Given the description of an element on the screen output the (x, y) to click on. 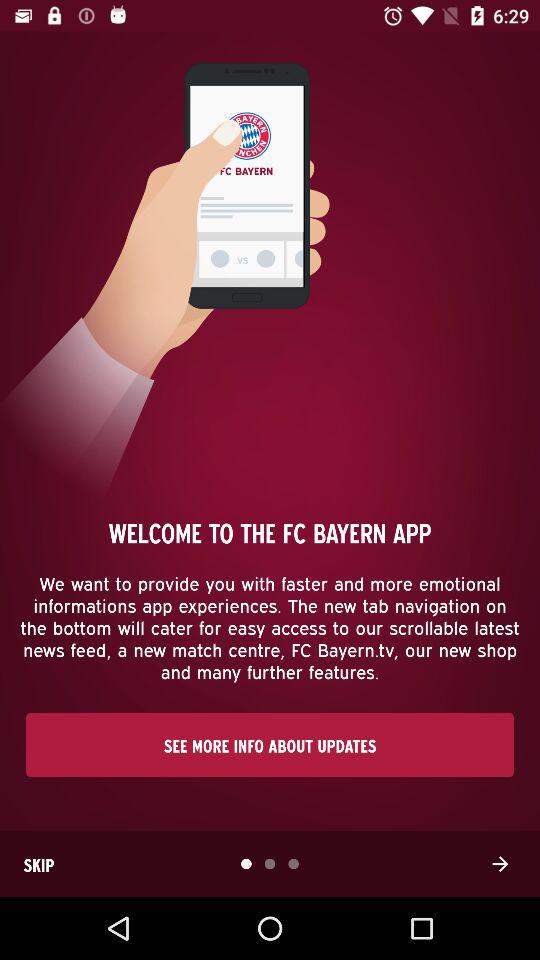
turn on the icon below see more info (500, 864)
